Given the description of an element on the screen output the (x, y) to click on. 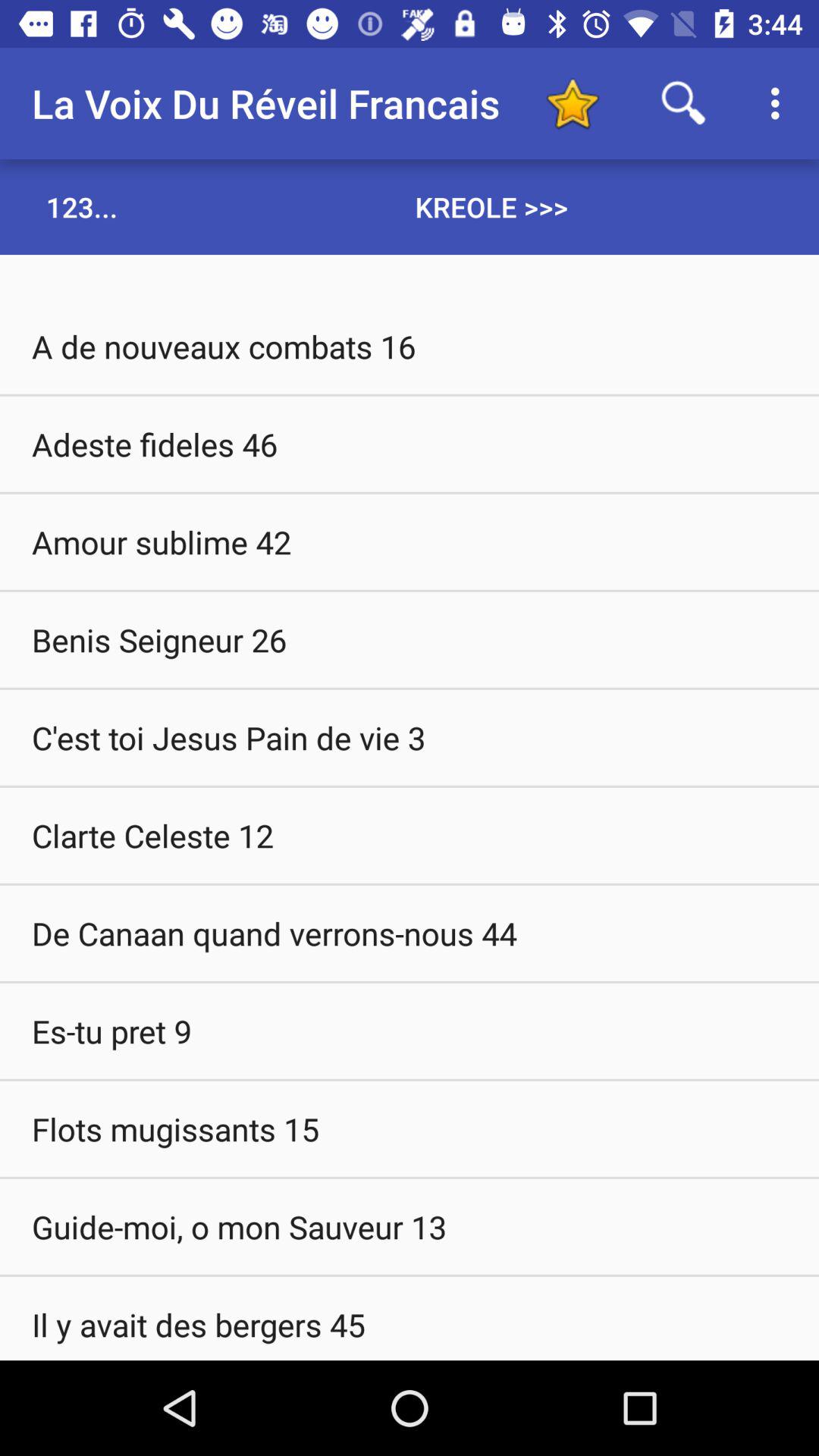
open the item above the es tu pret item (409, 933)
